Given the description of an element on the screen output the (x, y) to click on. 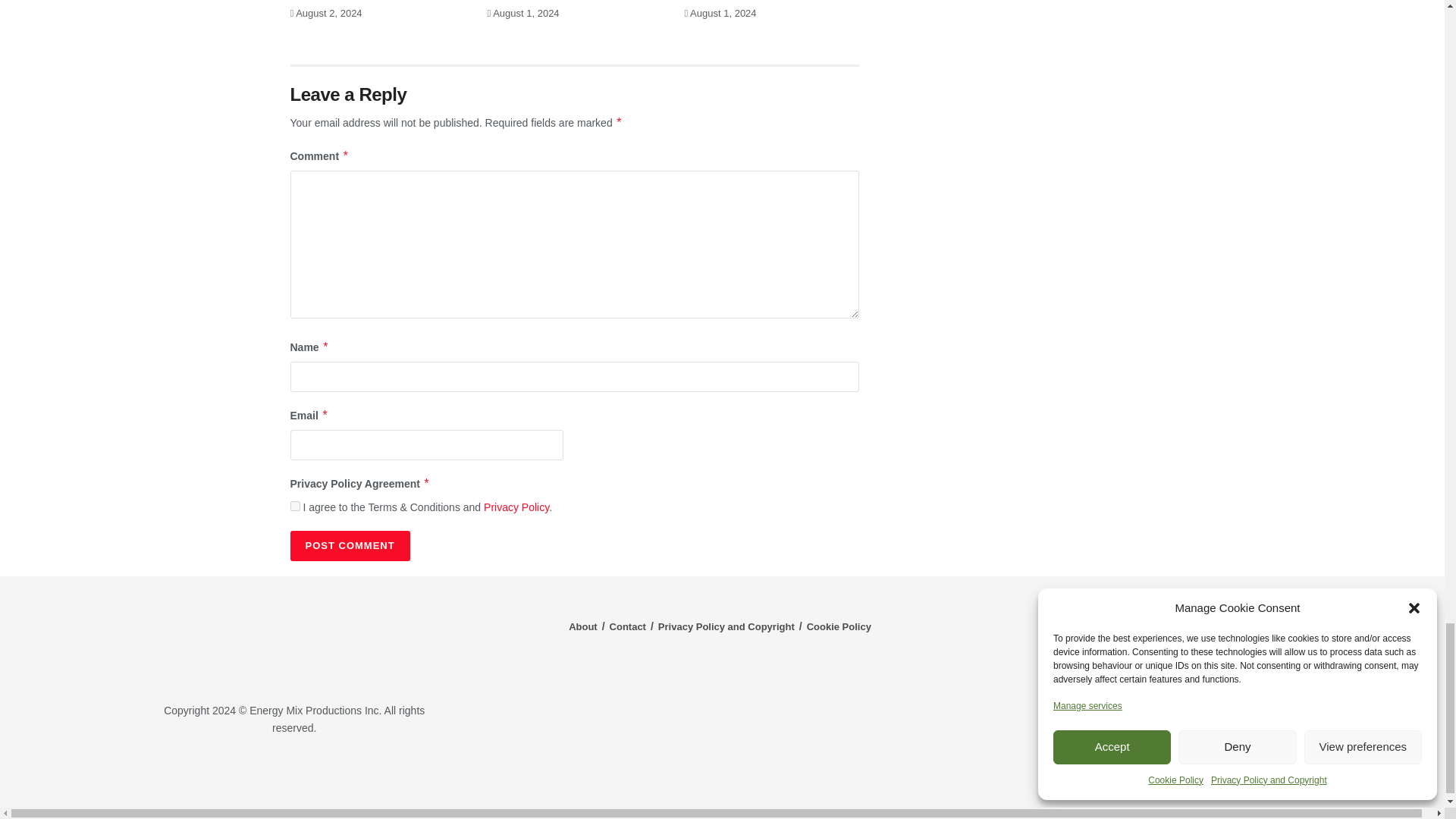
Climate-and-Capital (1221, 772)
on (294, 506)
Post Comment (349, 545)
tem-logo-2024 (294, 640)
